Given the description of an element on the screen output the (x, y) to click on. 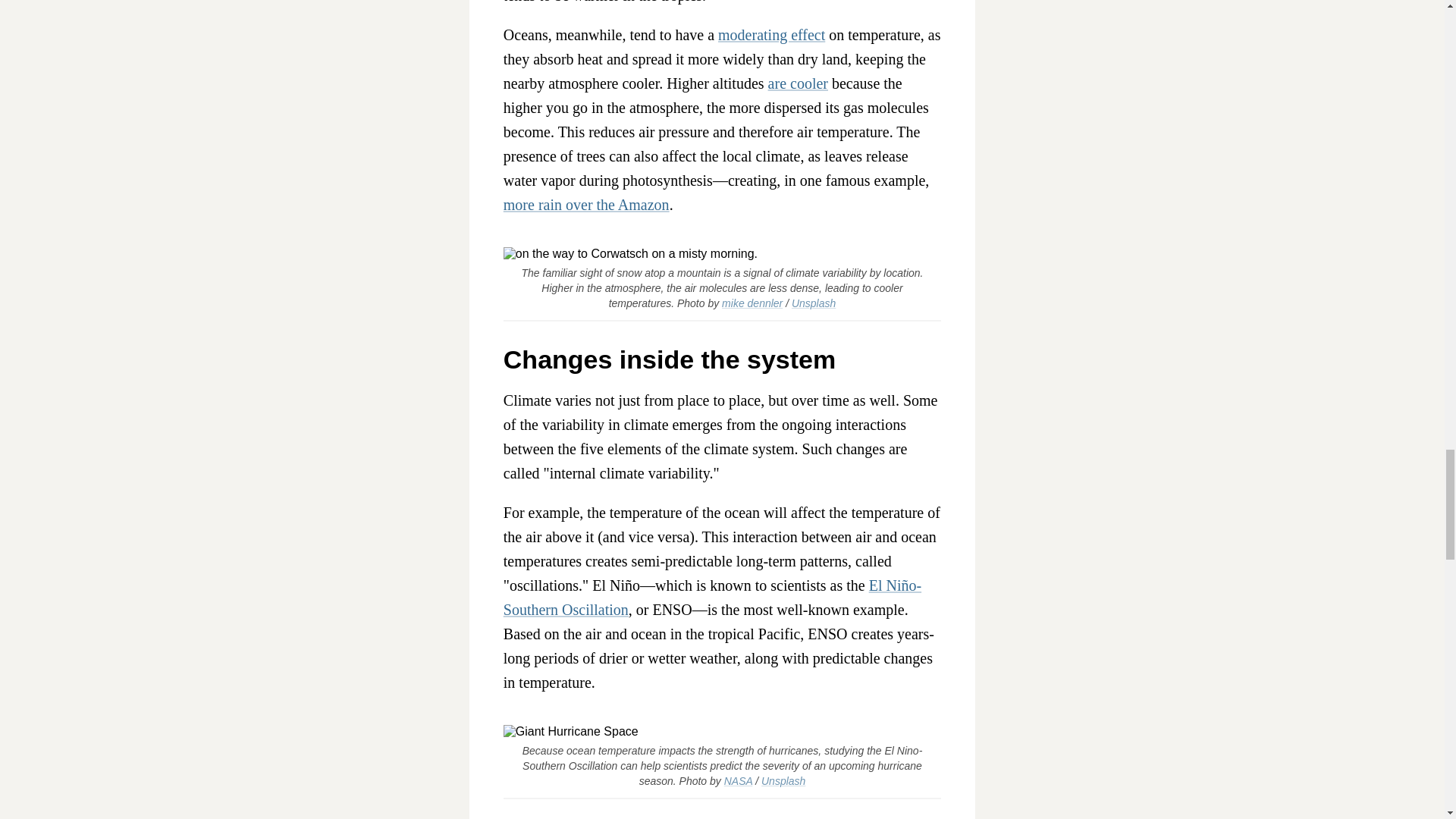
NASA (737, 780)
more rain over the Amazon (586, 204)
are cooler (798, 83)
moderating effect (771, 34)
Unsplash (813, 303)
mike dennler (752, 303)
Unsplash (783, 780)
